Given the description of an element on the screen output the (x, y) to click on. 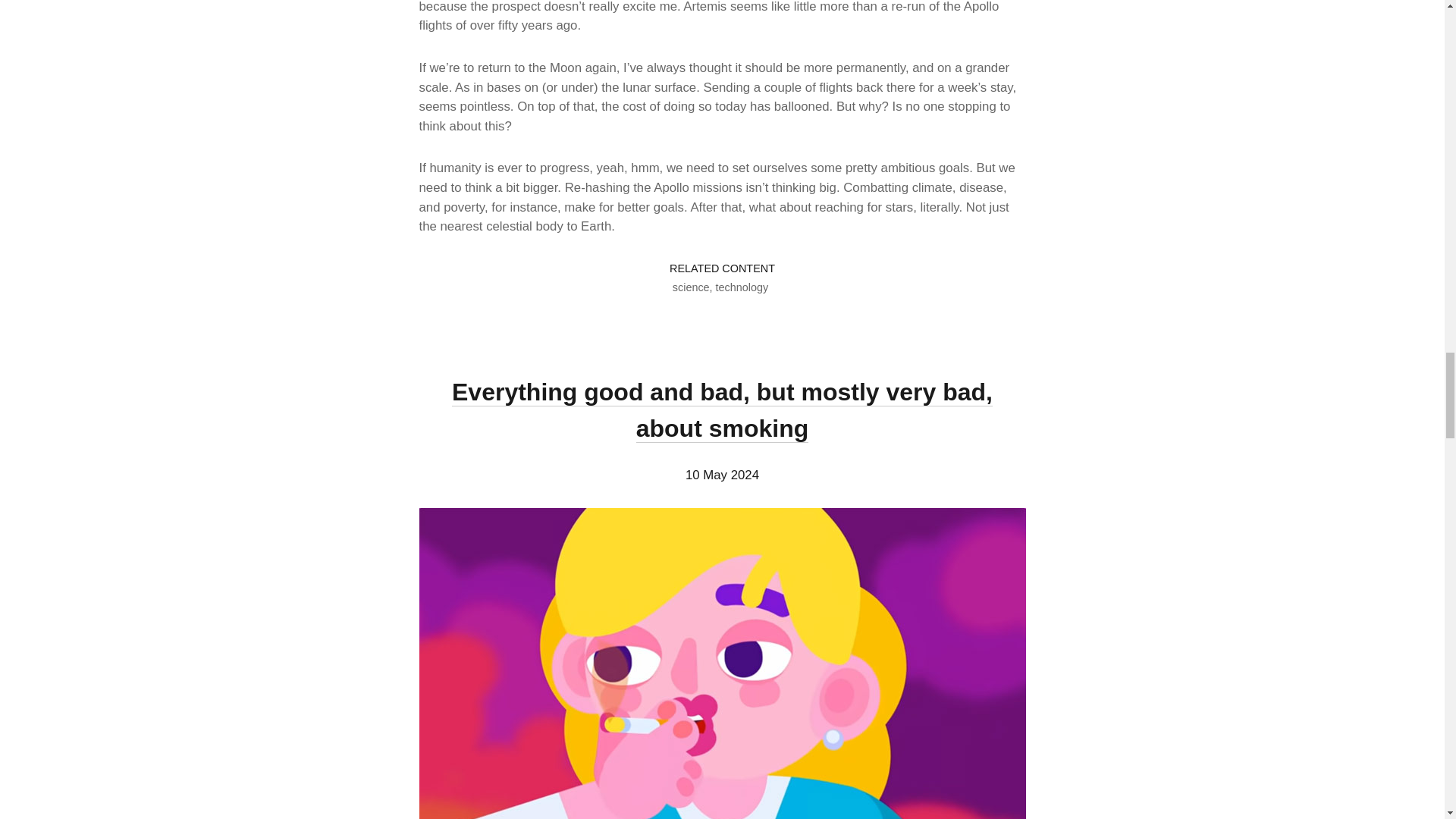
Everything good and bad, but mostly very bad, about smoking (721, 410)
